Given the description of an element on the screen output the (x, y) to click on. 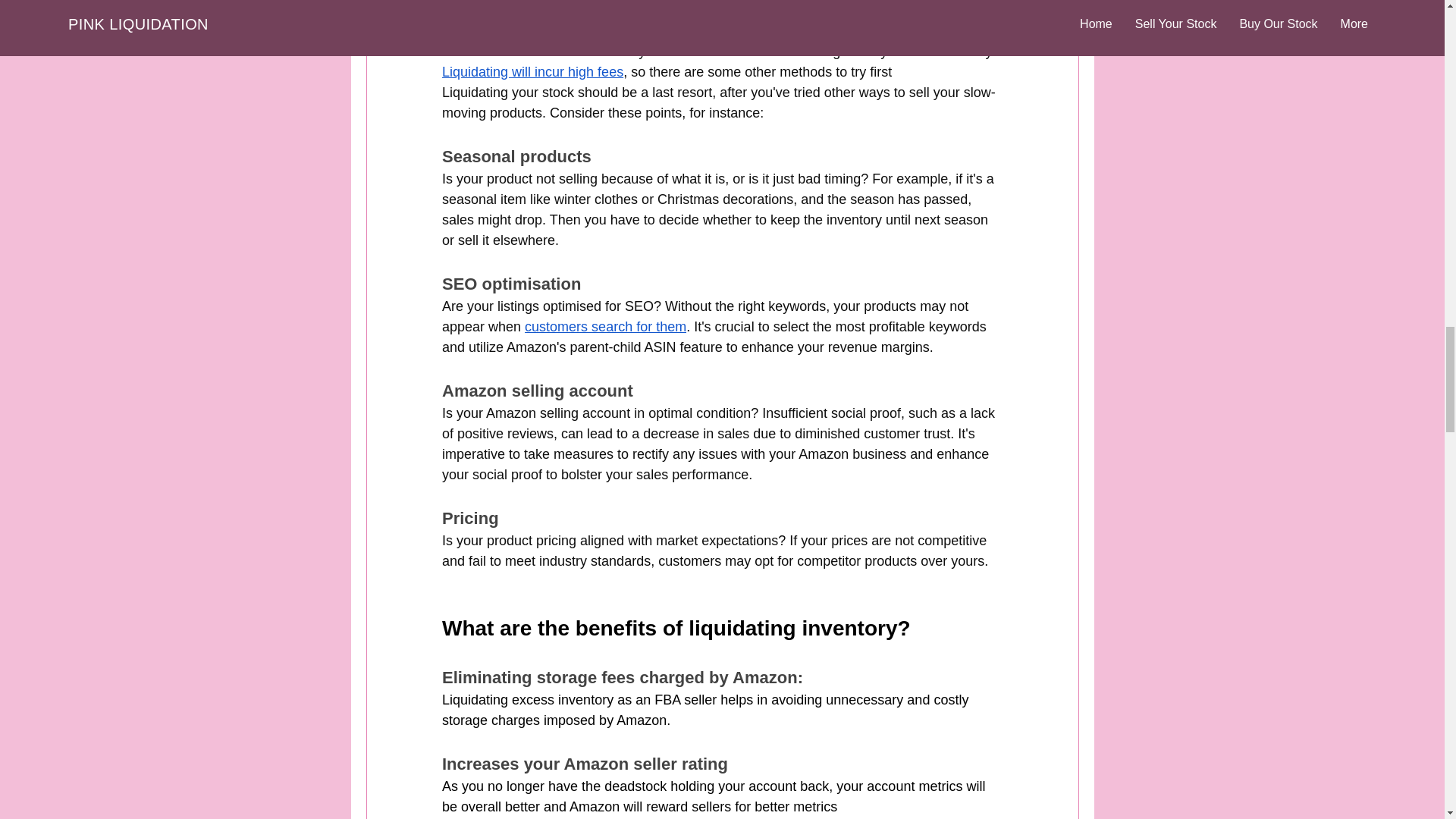
customers search for them (604, 326)
Liquidating will incur high fees (532, 71)
